Given the description of an element on the screen output the (x, y) to click on. 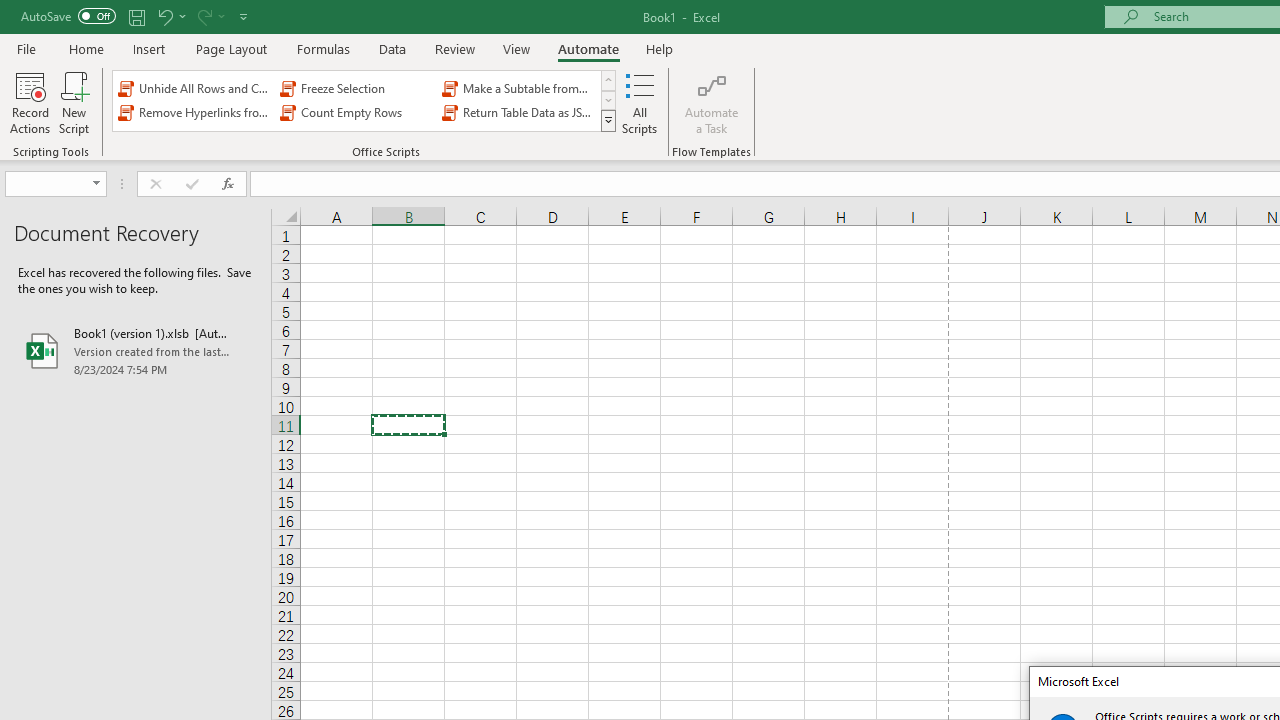
Remove Hyperlinks from Sheet (194, 112)
Record Actions (29, 102)
AutomationID: OfficeScriptsGallery (365, 100)
Unhide All Rows and Columns (194, 88)
New Script (73, 102)
